Given the description of an element on the screen output the (x, y) to click on. 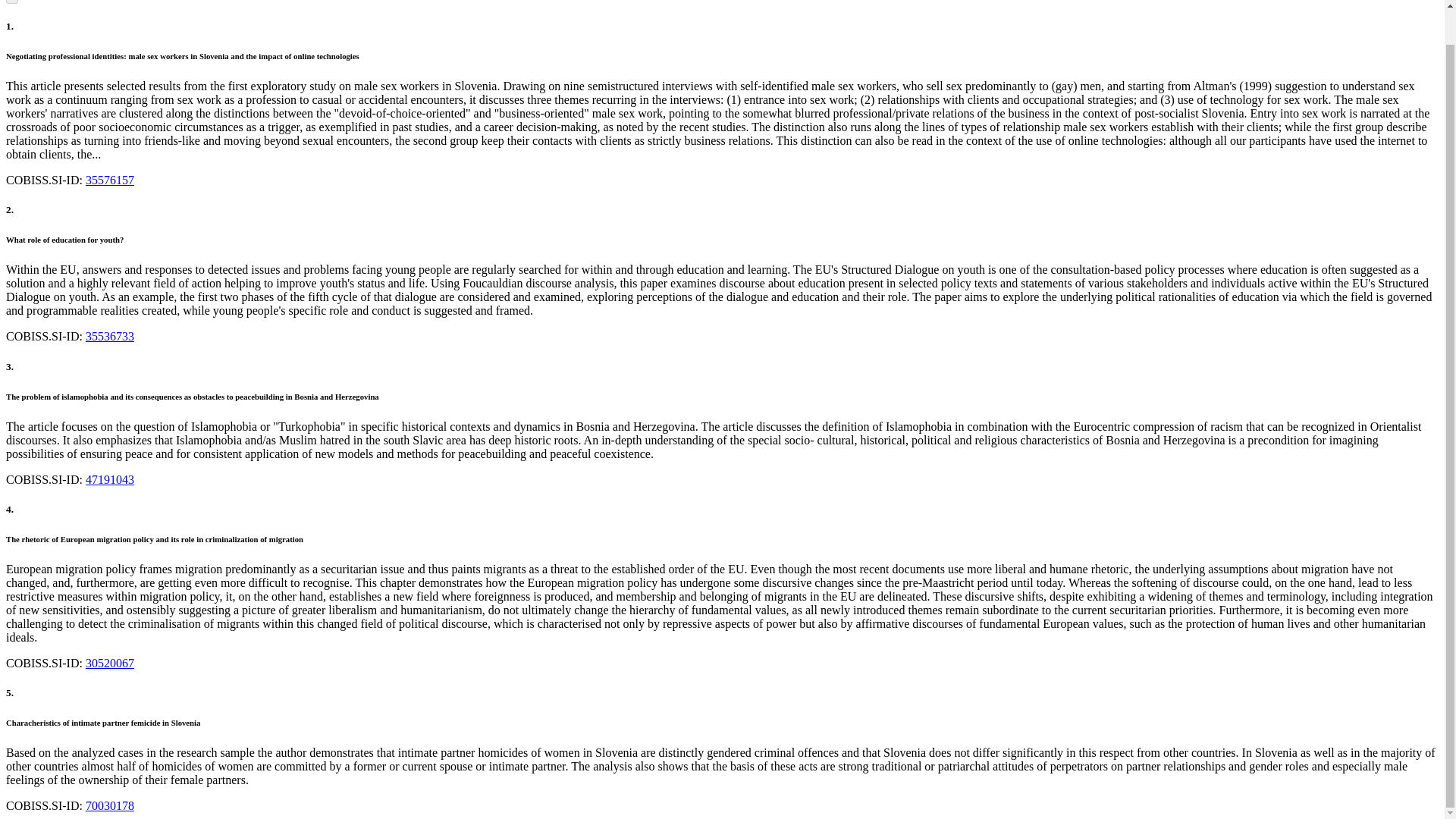
70030178 (109, 805)
47191043 (109, 478)
35536733 (109, 336)
35576157 (109, 179)
30520067 (109, 662)
